Given the description of an element on the screen output the (x, y) to click on. 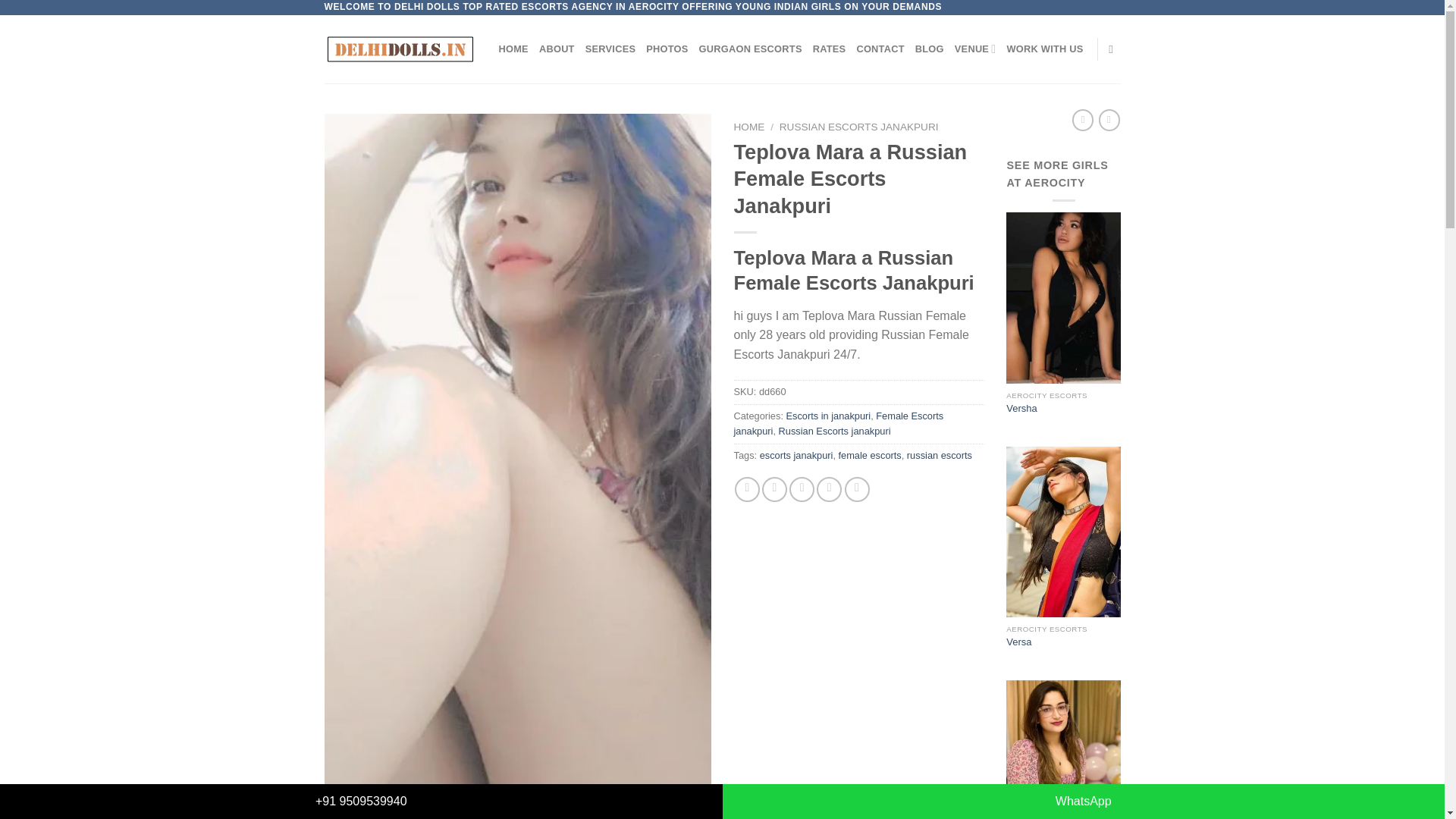
Russian Escorts Aerocity - Aerocity Escorts (400, 49)
RATES (828, 49)
Pin on Pinterest (828, 489)
Share on Facebook (747, 489)
VENUE (975, 49)
HOME (513, 49)
PHOTOS (666, 49)
ABOUT (556, 49)
SERVICES (610, 49)
CONTACT (880, 49)
